Given the description of an element on the screen output the (x, y) to click on. 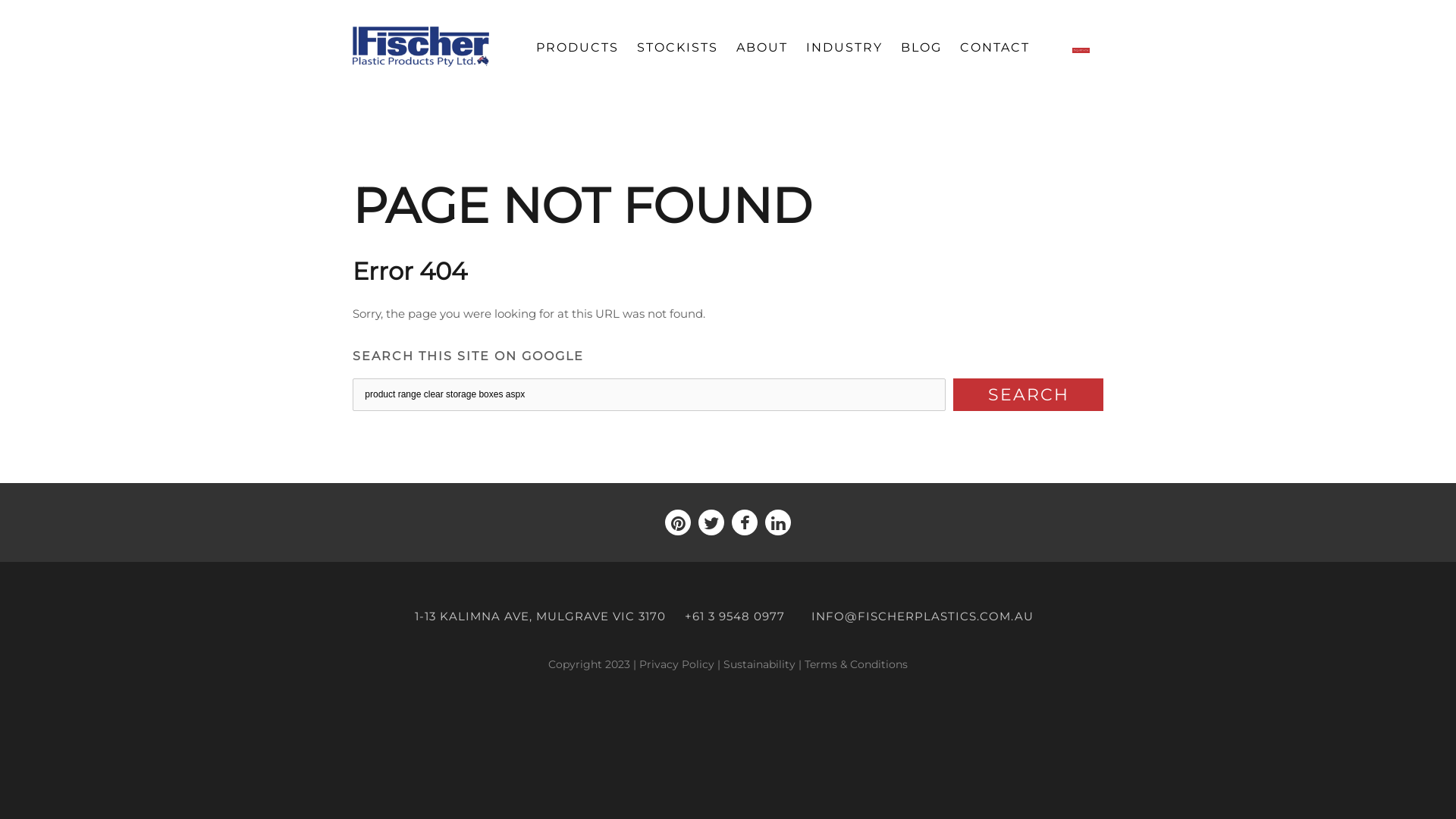
+61 3 9548 0977 Element type: text (734, 615)
CONTACT Element type: text (994, 47)
Fischer Plastic Products Element type: hover (420, 46)
ABOUT Element type: text (761, 47)
STOCKISTS Element type: text (677, 47)
Sustainability Element type: text (759, 664)
INFO@FISCHERPLASTICS.COM.AU Element type: text (922, 615)
PRODUCTS Element type: text (577, 47)
INDUSTRY Element type: text (844, 47)
BLOG Element type: text (920, 47)
SEARCH Element type: text (1028, 394)
Privacy Policy Element type: text (676, 664)
Terms & Conditions Element type: text (855, 664)
